Given the description of an element on the screen output the (x, y) to click on. 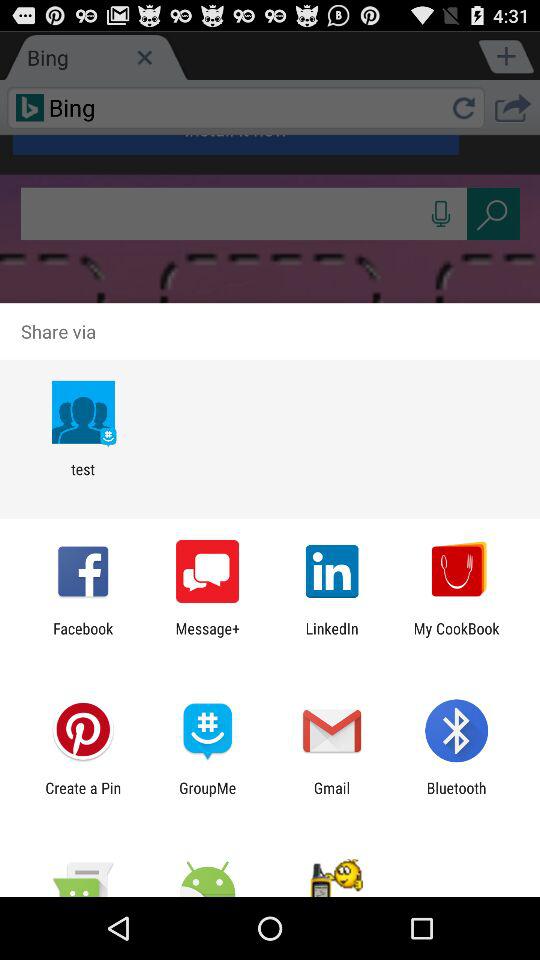
select the item next to linkedin (456, 637)
